Given the description of an element on the screen output the (x, y) to click on. 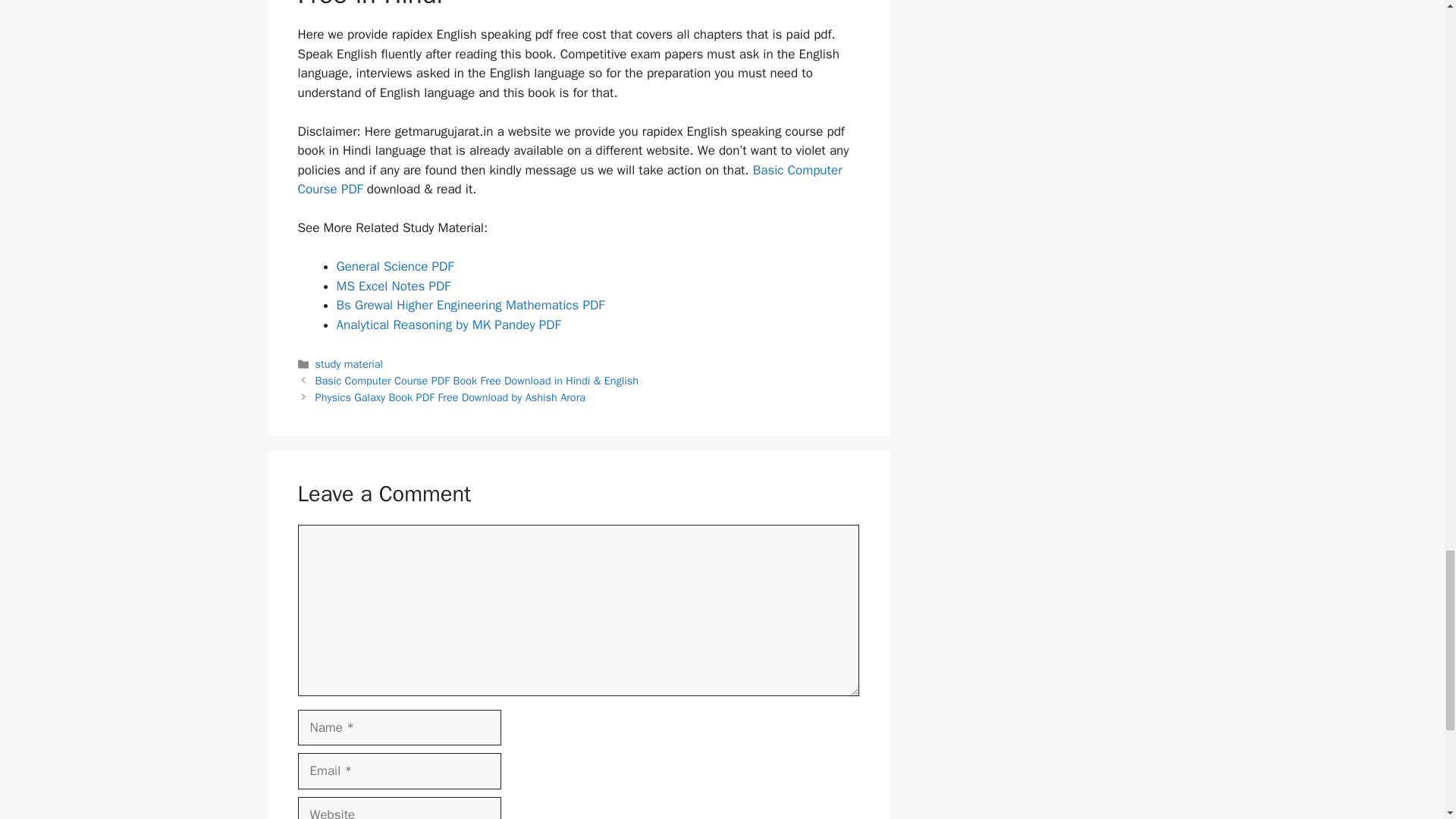
Analytical Reasoning by MK Pandey PDF (448, 324)
Physics Galaxy Book PDF Free Download by Ashish Arora (450, 397)
Next (450, 397)
study material (348, 364)
Bs Grewal Higher Engineering Mathematics PDF (470, 304)
General Science PDF (395, 266)
MS Excel Notes PDF (393, 286)
Basic Computer Course PDF (569, 180)
Previous (477, 380)
